Given the description of an element on the screen output the (x, y) to click on. 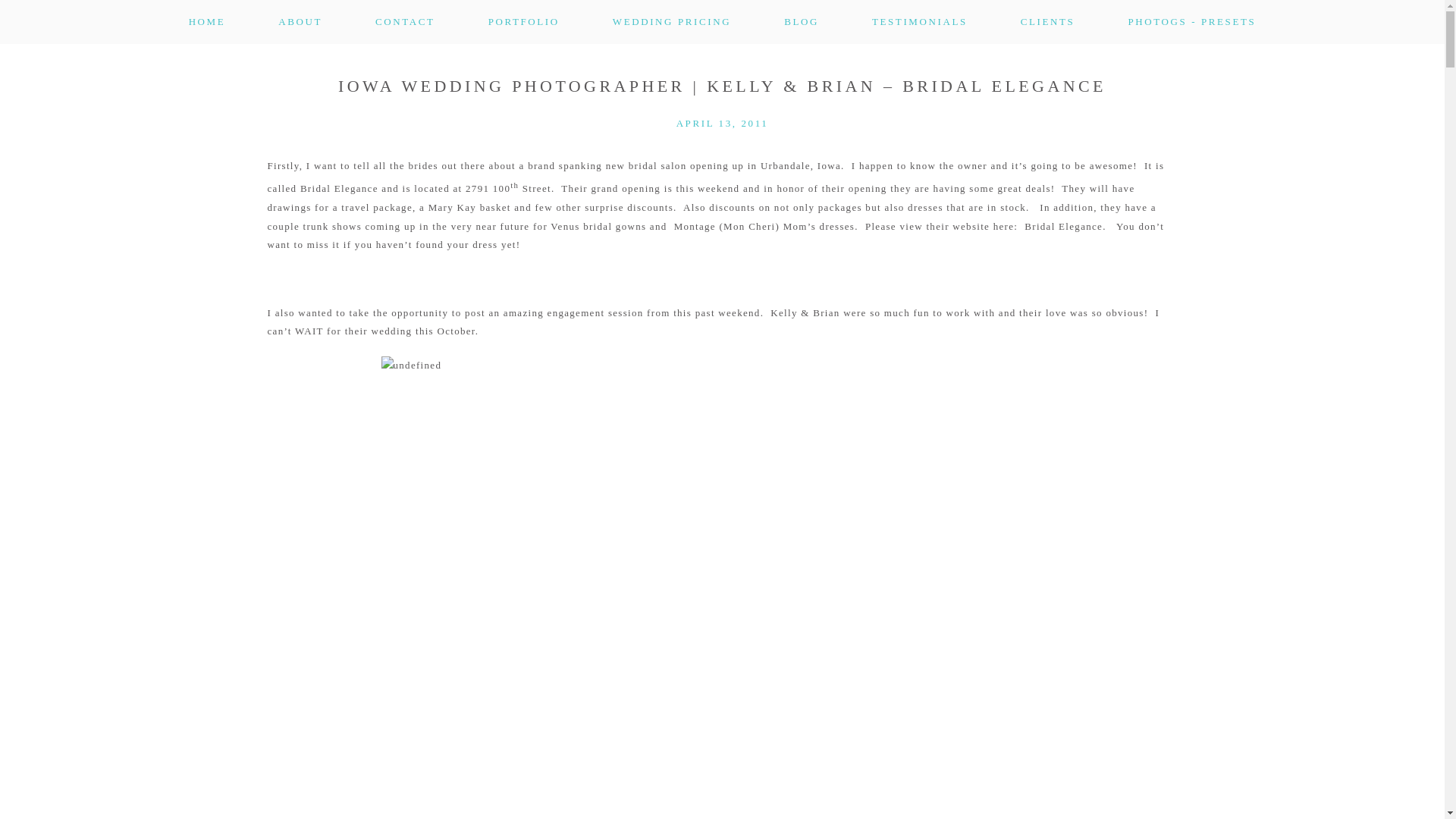
BLOG (801, 21)
CONTACT (405, 21)
TESTIMONIALS (920, 21)
WEDDING PRICING (671, 21)
Bridal Elegance (1063, 225)
ABOUT (299, 21)
Bridal Elegance (1063, 225)
CLIENTS (1047, 21)
HOME (207, 21)
PHOTOGS - PRESETS (1190, 21)
